Given the description of an element on the screen output the (x, y) to click on. 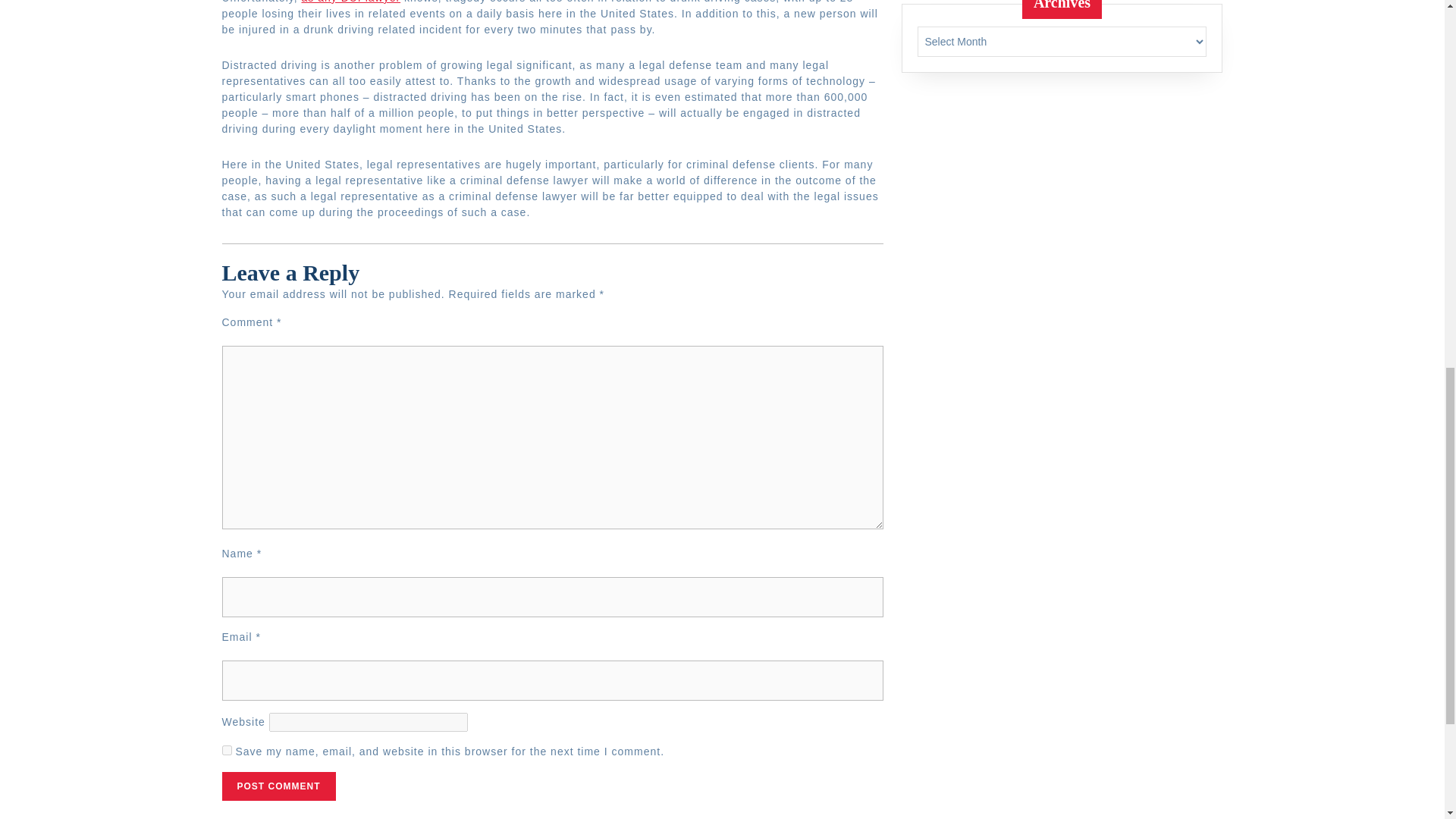
yes (226, 750)
as any DUI lawyer (386, 815)
Clackamas county duii lawyer (351, 2)
Post Comment (351, 2)
Post Comment (277, 786)
